Given the description of an element on the screen output the (x, y) to click on. 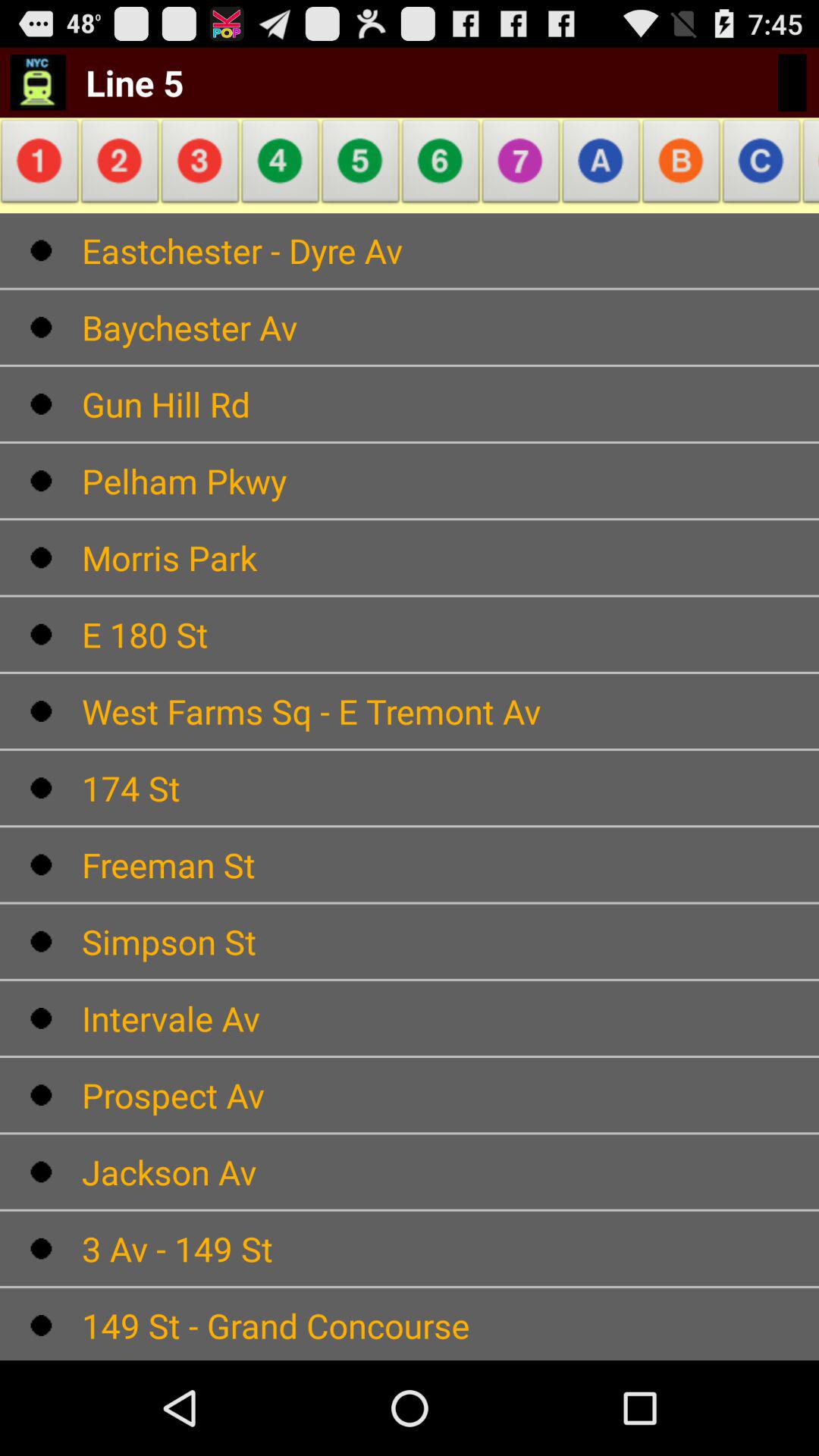
select item above eastchester - dyre av icon (681, 165)
